Given the description of an element on the screen output the (x, y) to click on. 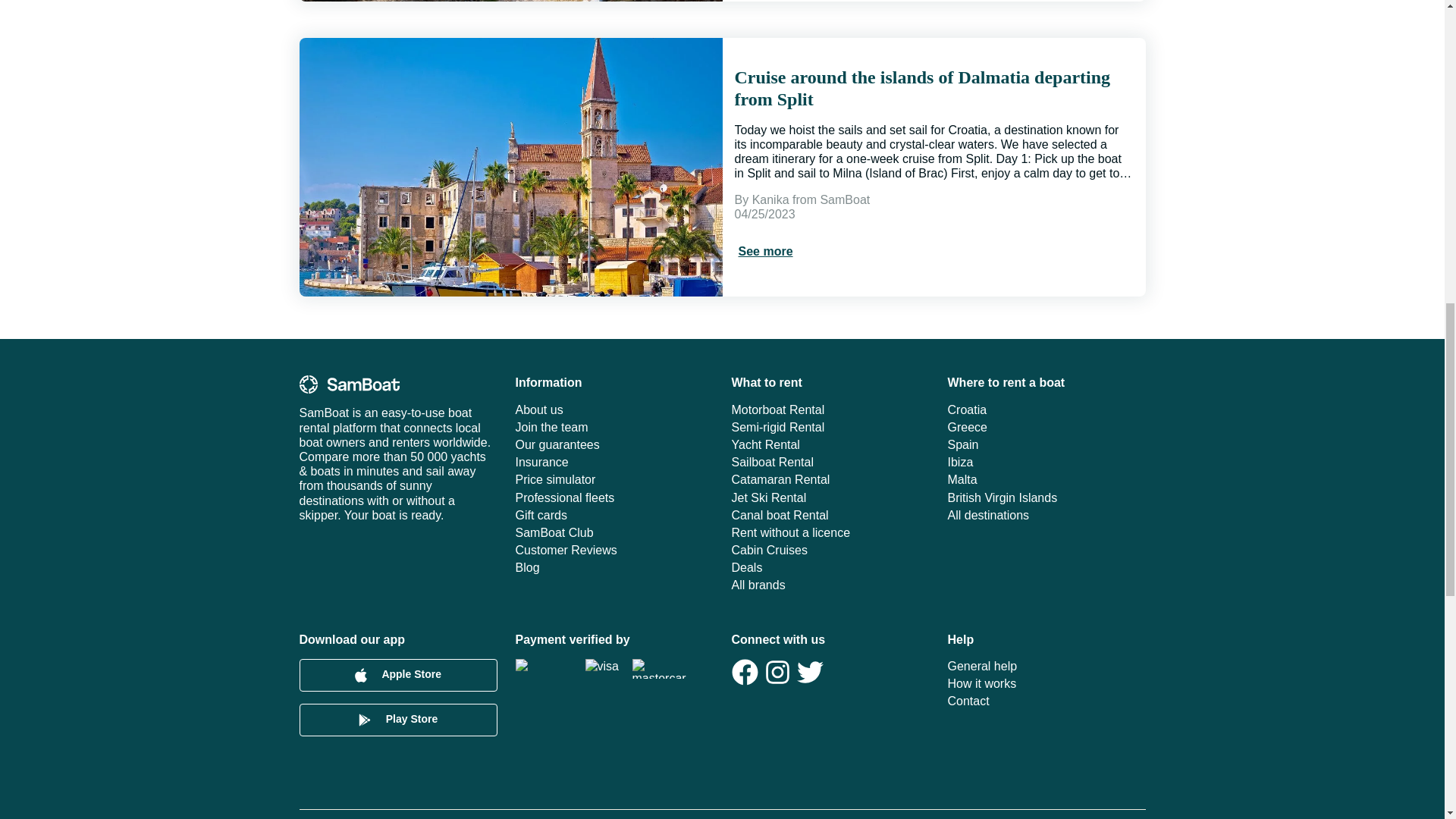
Customer Reviews (614, 549)
About us (614, 409)
Cruise around the islands of Dalmatia departing from Split (932, 88)
Our guarantees (614, 444)
Play Store (397, 719)
SamBoat Club (614, 532)
Motorboat Rental (829, 409)
Blog (614, 567)
Kanika from SamBoat (811, 199)
See more (765, 251)
Insurance (614, 462)
Semi-rigid Rental (829, 427)
Apple Store (397, 675)
Gift cards (614, 514)
Join the team (614, 427)
